Given the description of an element on the screen output the (x, y) to click on. 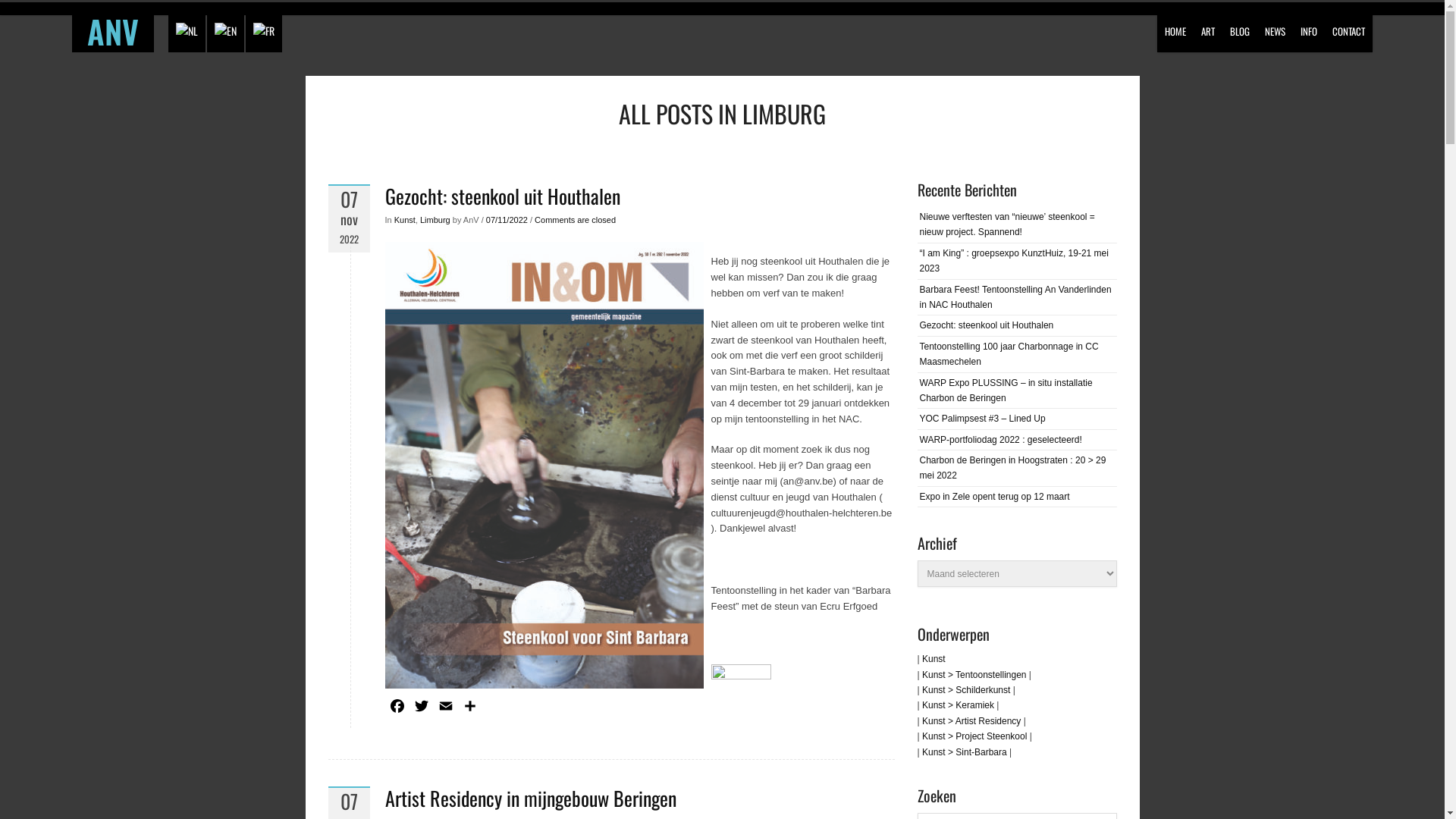
INFO Element type: text (1308, 26)
WARP-portfoliodag 2022 : geselecteerd! Element type: text (1000, 439)
CONTACT Element type: text (1348, 26)
Comments are closed Element type: text (574, 220)
Kunst > Project Steenkool Element type: text (974, 736)
Kunst > Tentoonstellingen Element type: text (974, 674)
ART Element type: text (1207, 26)
Kunst > Keramiek Element type: text (958, 704)
Gezocht: steenkool uit Houthalen Element type: text (502, 195)
NEWS Element type: text (1274, 26)
Gezocht: steenkool uit Houthalen Element type: text (986, 325)
Tentoonstelling 100 jaar Charbonnage in CC Maasmechelen Element type: text (1008, 354)
07/11/2022 Element type: text (506, 220)
Email Element type: text (445, 708)
Expo in Zele opent terug op 12 maart Element type: text (994, 496)
English Element type: hover (224, 30)
Delen Element type: text (470, 708)
Twitter Element type: text (421, 708)
Nederlands Element type: hover (186, 30)
Charbon de Beringen in Hoogstraten : 20 > 29 mei 2022 Element type: text (1012, 467)
Kunst > Schilderkunst Element type: text (966, 689)
Facebook Element type: text (397, 708)
ANV Element type: text (112, 33)
Zoeken Element type: text (22, 14)
HOME Element type: text (1175, 26)
BLOG Element type: text (1239, 26)
Kunst Element type: text (404, 220)
Kunst > Sint-Barbara Element type: text (964, 751)
Kunst > Artist Residency Element type: text (971, 720)
Artist Residency in mijngebouw Beringen Element type: text (530, 797)
Limburg Element type: text (435, 220)
Kunst Element type: text (933, 658)
